Given the description of an element on the screen output the (x, y) to click on. 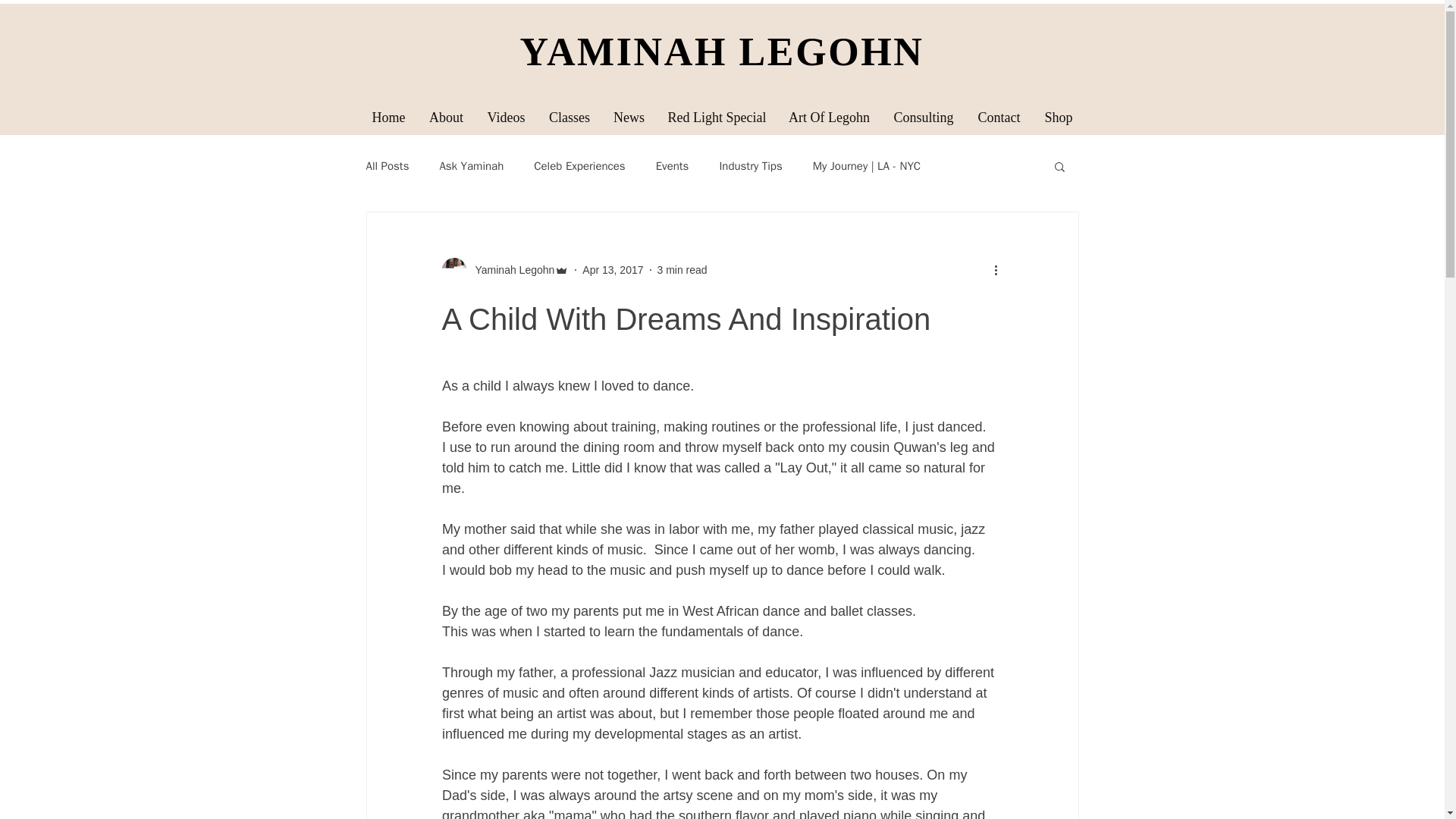
All Posts (387, 165)
Celeb Experiences (579, 165)
Ask Yaminah (471, 165)
Home (387, 117)
News (629, 117)
Apr 13, 2017 (612, 269)
Yaminah Legohn (505, 269)
YAMINAH LEGOHN (721, 51)
Events (672, 165)
Industry Tips (750, 165)
Contact (999, 117)
Art Of Legohn (828, 117)
Yaminah Legohn (509, 270)
3 min read (681, 269)
